Given the description of an element on the screen output the (x, y) to click on. 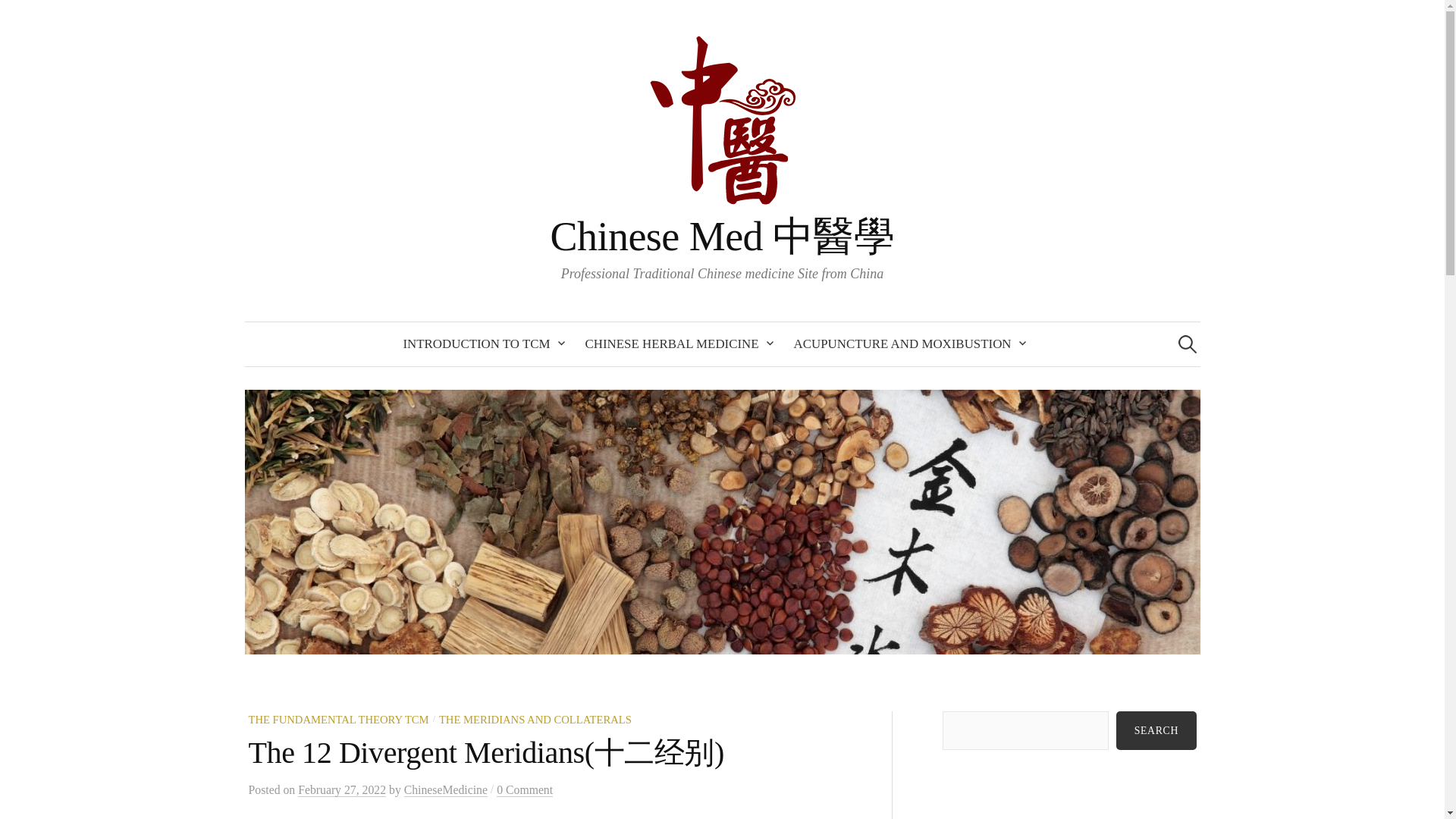
INTRODUCTION TO TCM (479, 344)
CHINESE HERBAL MEDICINE (676, 344)
View all posts by ChineseMedicine (445, 789)
